Given the description of an element on the screen output the (x, y) to click on. 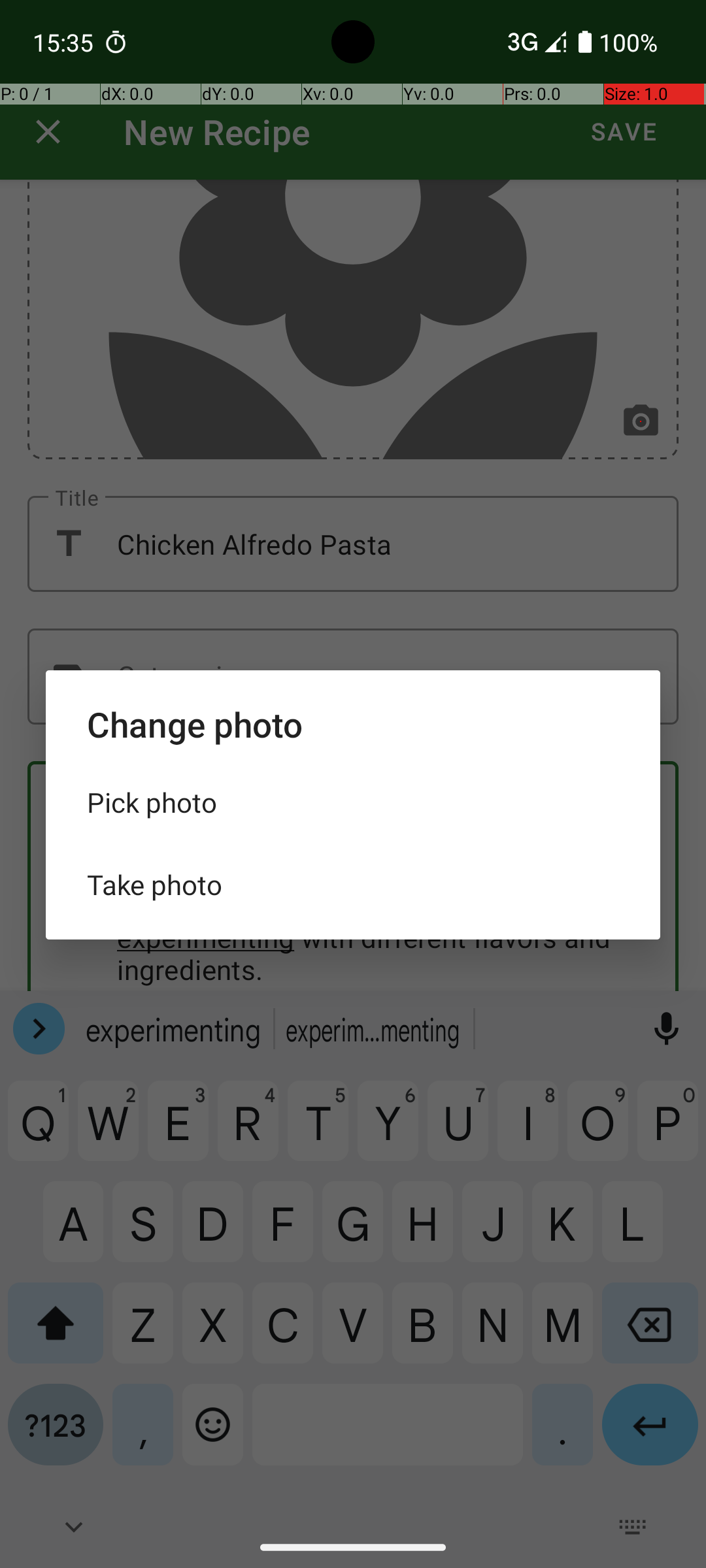
Change photo Element type: android.widget.TextView (352, 724)
Pick photo Element type: android.widget.TextView (352, 802)
Take photo Element type: android.widget.TextView (352, 884)
